Given the description of an element on the screen output the (x, y) to click on. 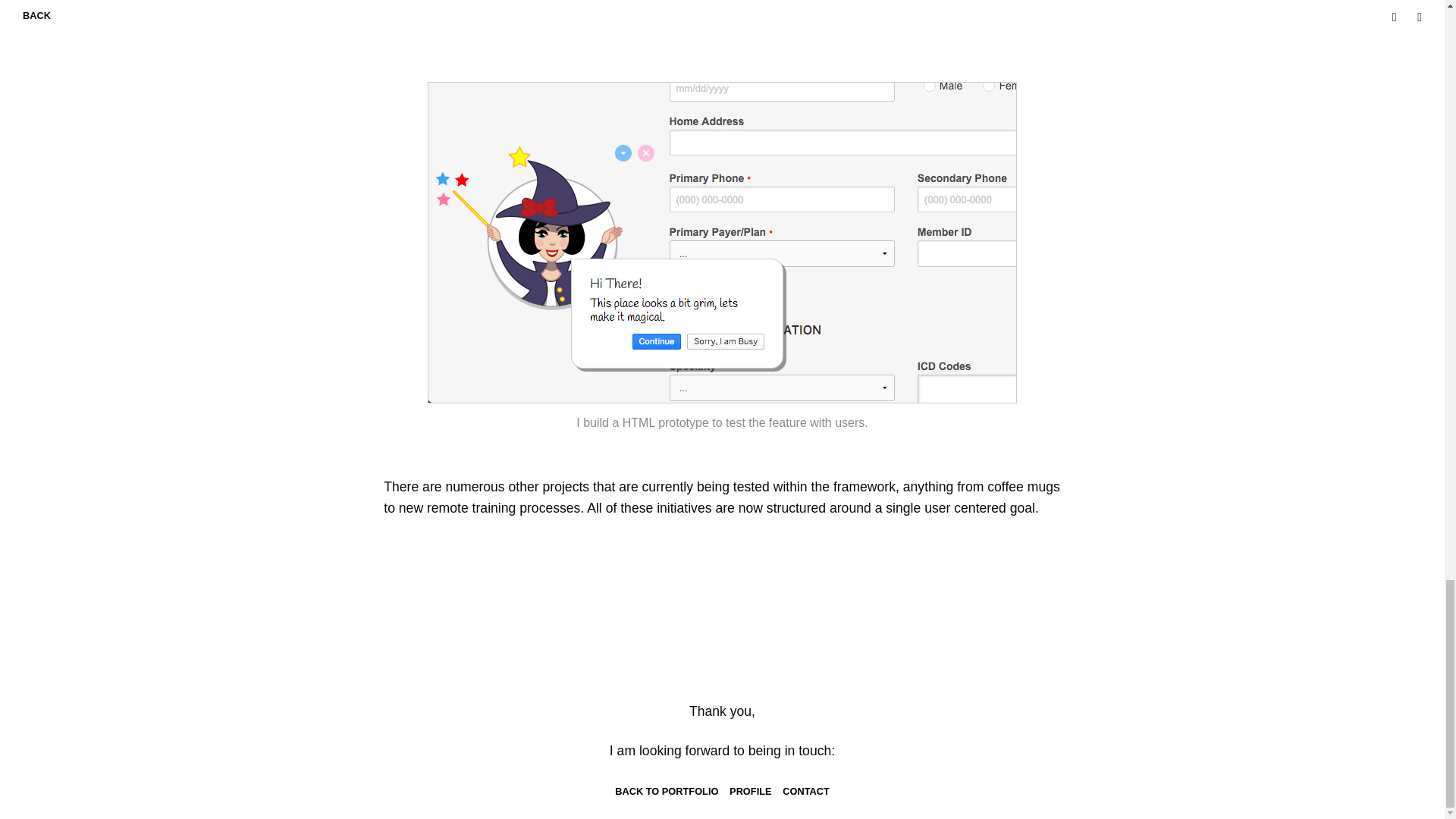
CONTACT (806, 790)
PROFILE (750, 790)
BACK TO PORTFOLIO (665, 790)
